Given the description of an element on the screen output the (x, y) to click on. 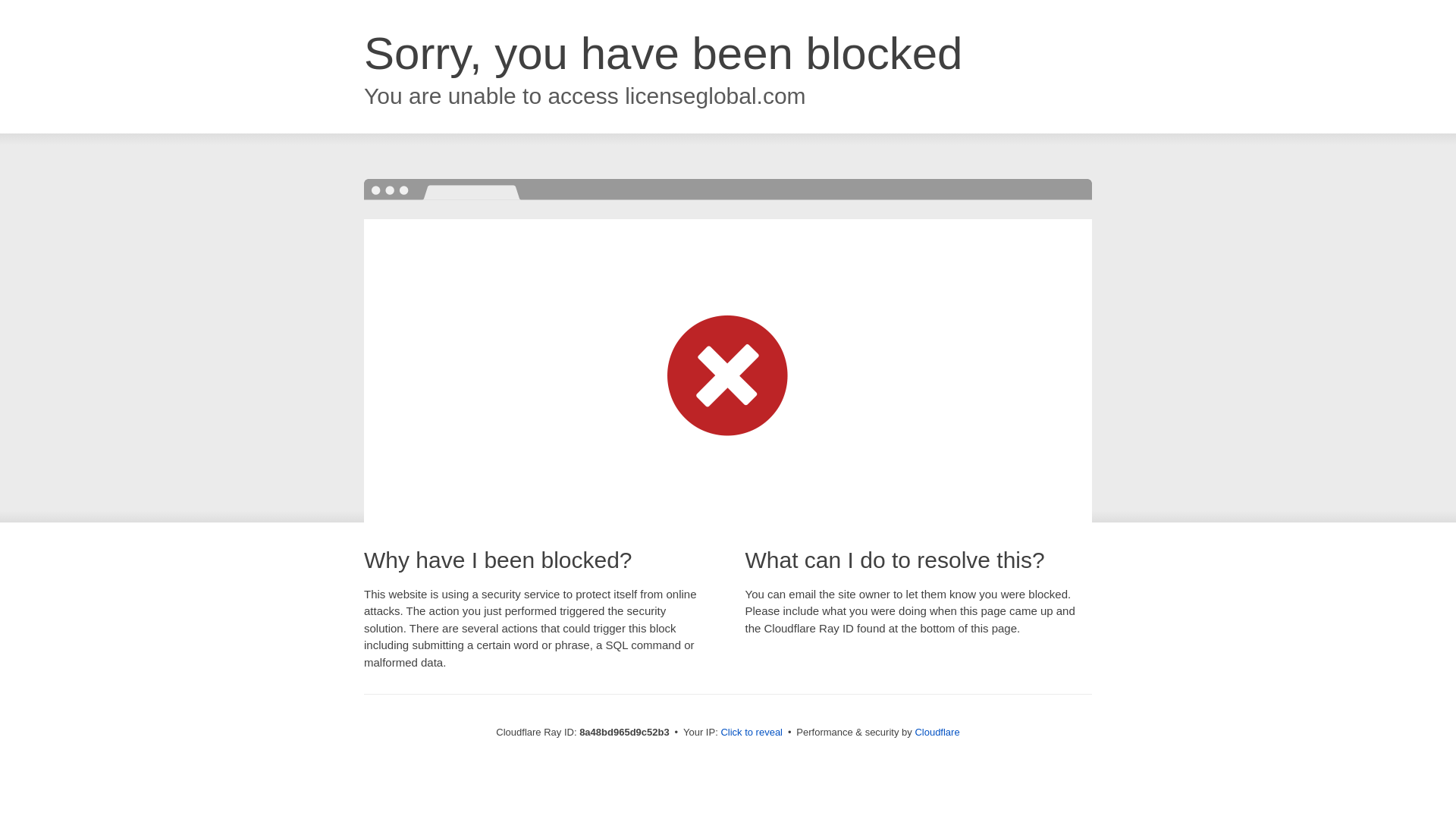
Click to reveal (751, 732)
Cloudflare (936, 731)
